Given the description of an element on the screen output the (x, y) to click on. 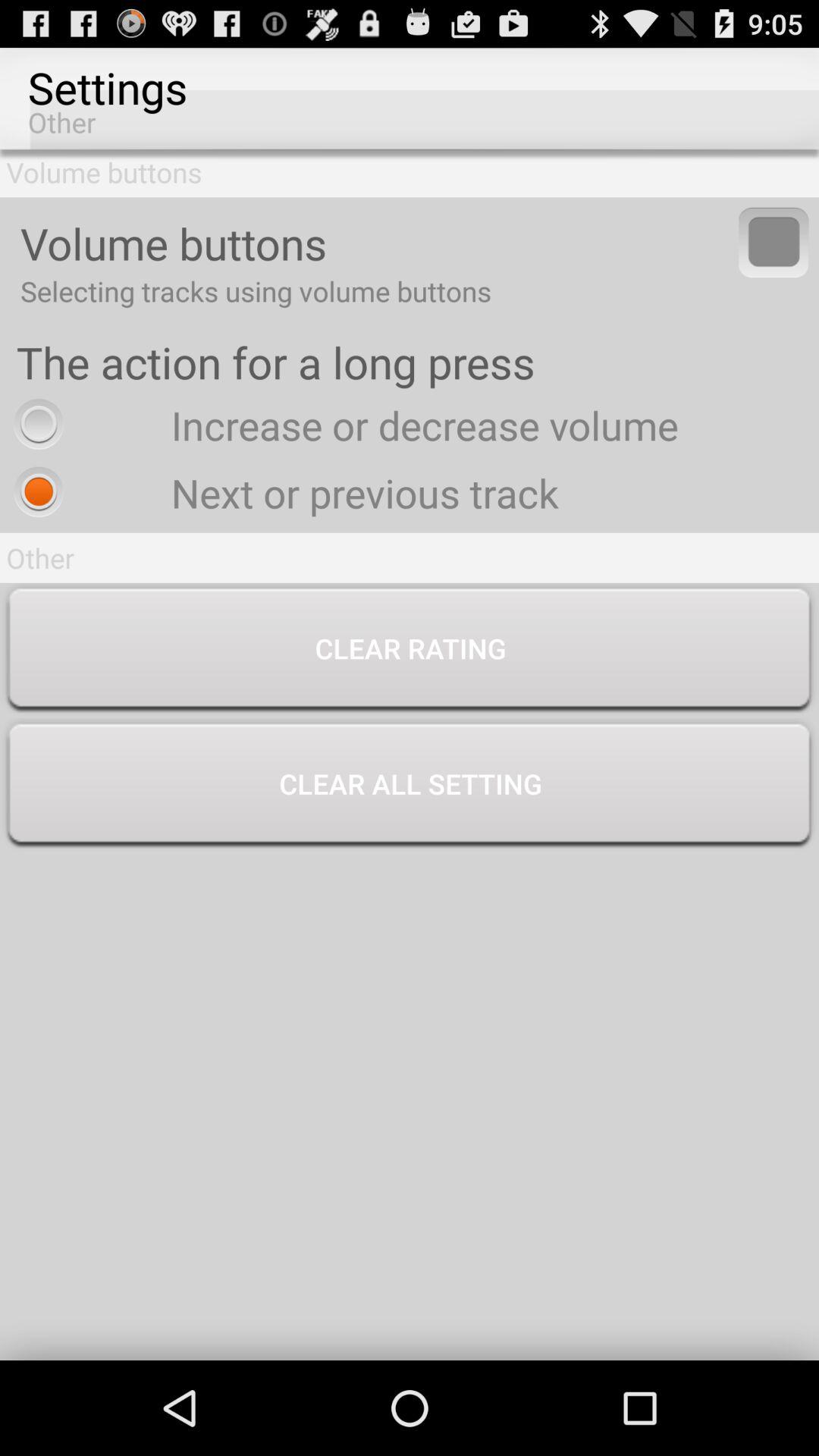
turn off item below the action for icon (342, 424)
